Given the description of an element on the screen output the (x, y) to click on. 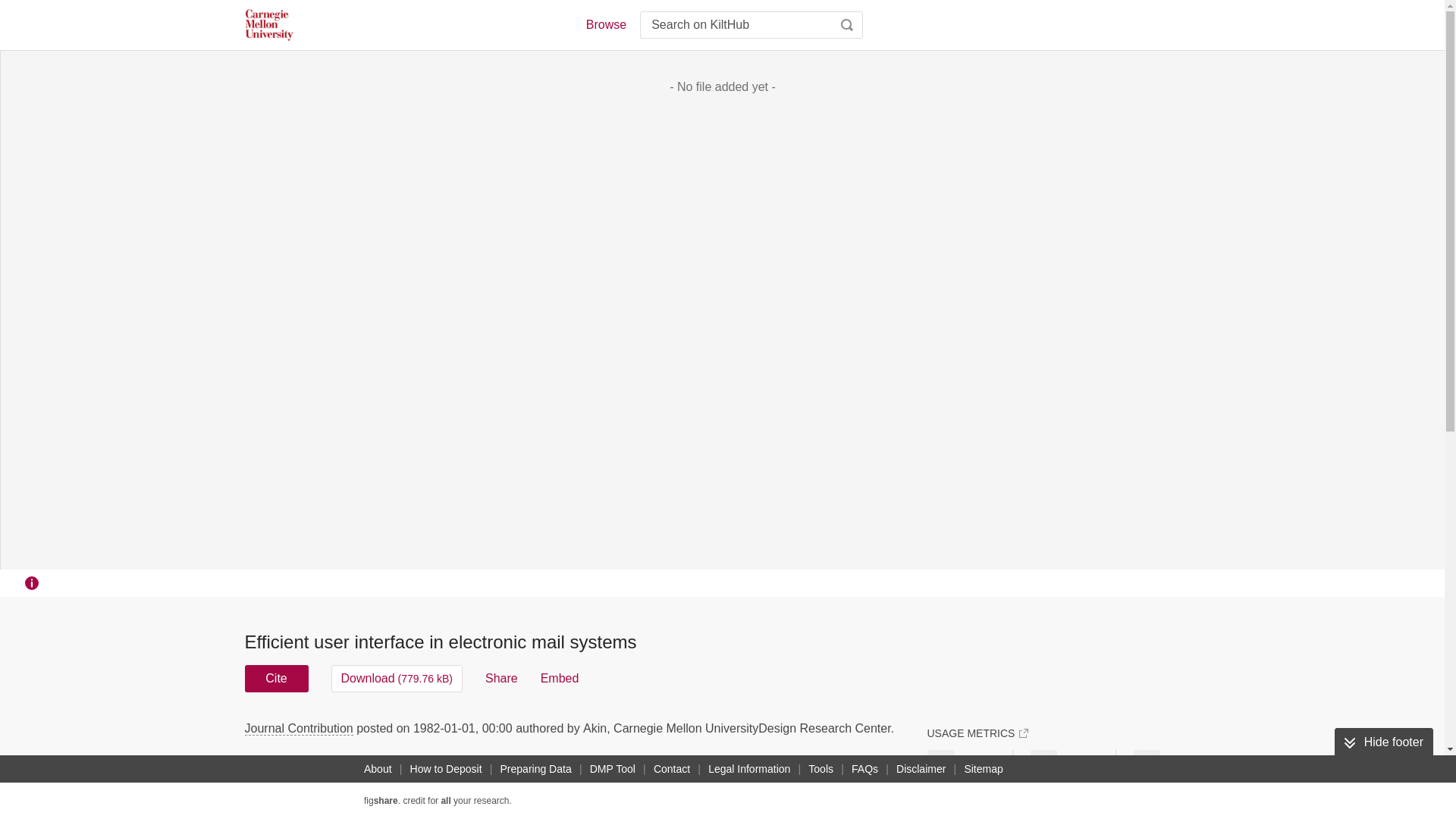
About (377, 769)
Disclaimer (920, 769)
How to Deposit (446, 769)
Browse (605, 24)
FAQs (864, 769)
Share (501, 678)
USAGE METRICS (976, 732)
Tools (820, 769)
Cite (275, 678)
Hide footer (1383, 742)
